Given the description of an element on the screen output the (x, y) to click on. 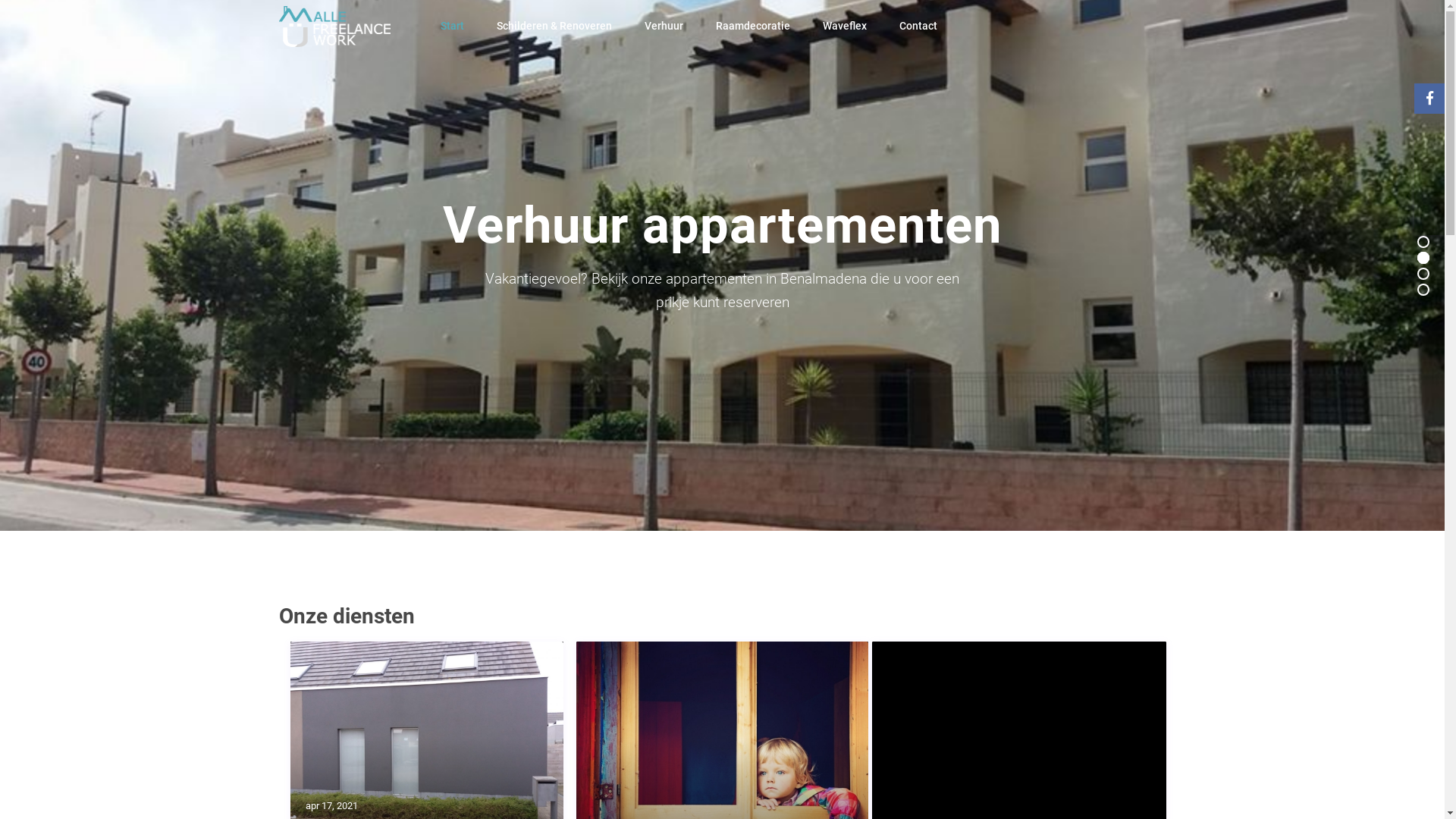
Schilderen & Renoveren Element type: text (554, 25)
Contact Element type: text (918, 25)
Waveflex Element type: text (844, 25)
Raamdecoratie Element type: text (752, 25)
Verhuur Element type: text (663, 25)
Start Element type: text (452, 25)
